Given the description of an element on the screen output the (x, y) to click on. 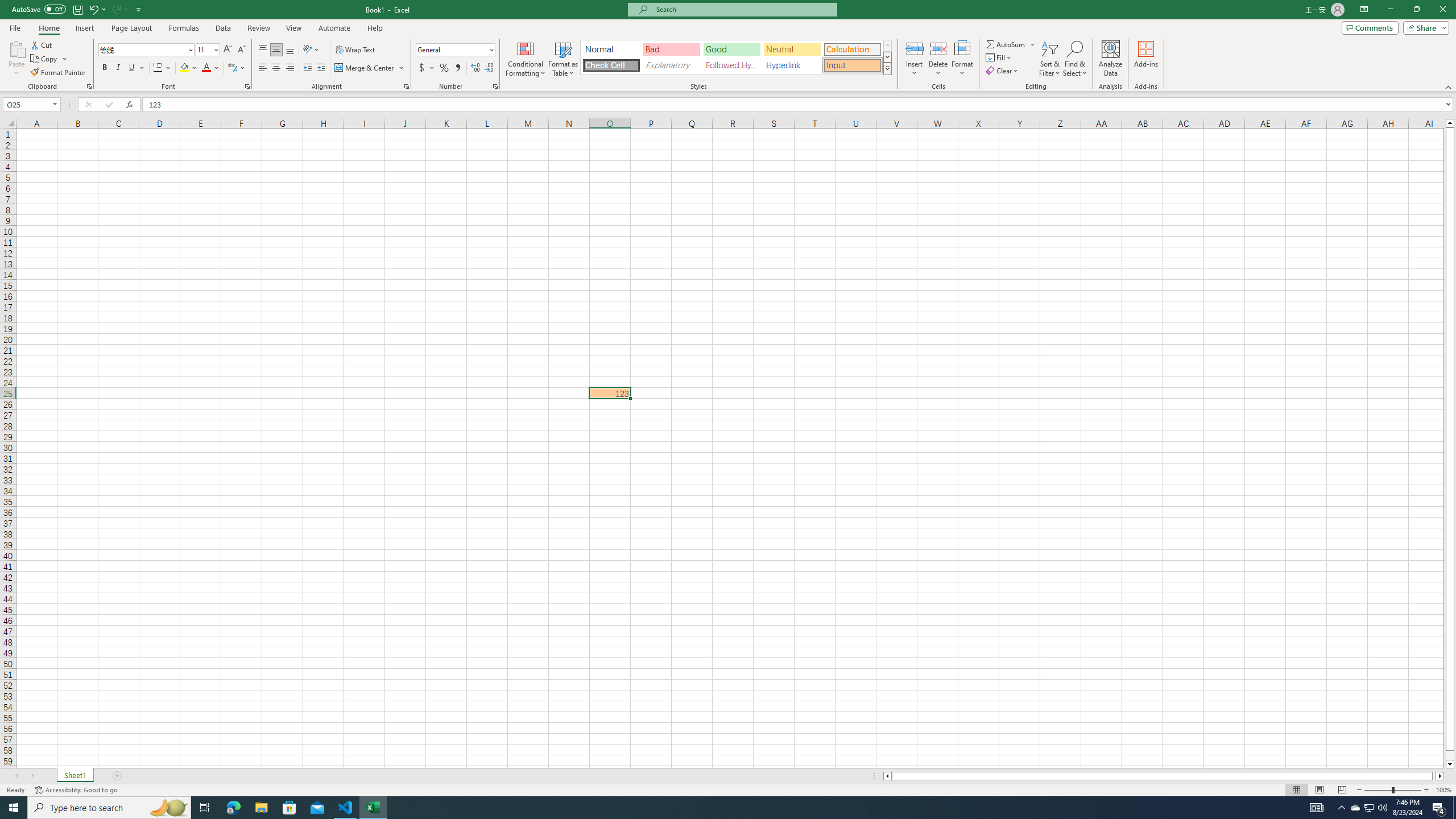
Format (962, 58)
Merge & Center (365, 67)
Merge & Center (369, 67)
Borders (162, 67)
Center (276, 67)
